Given the description of an element on the screen output the (x, y) to click on. 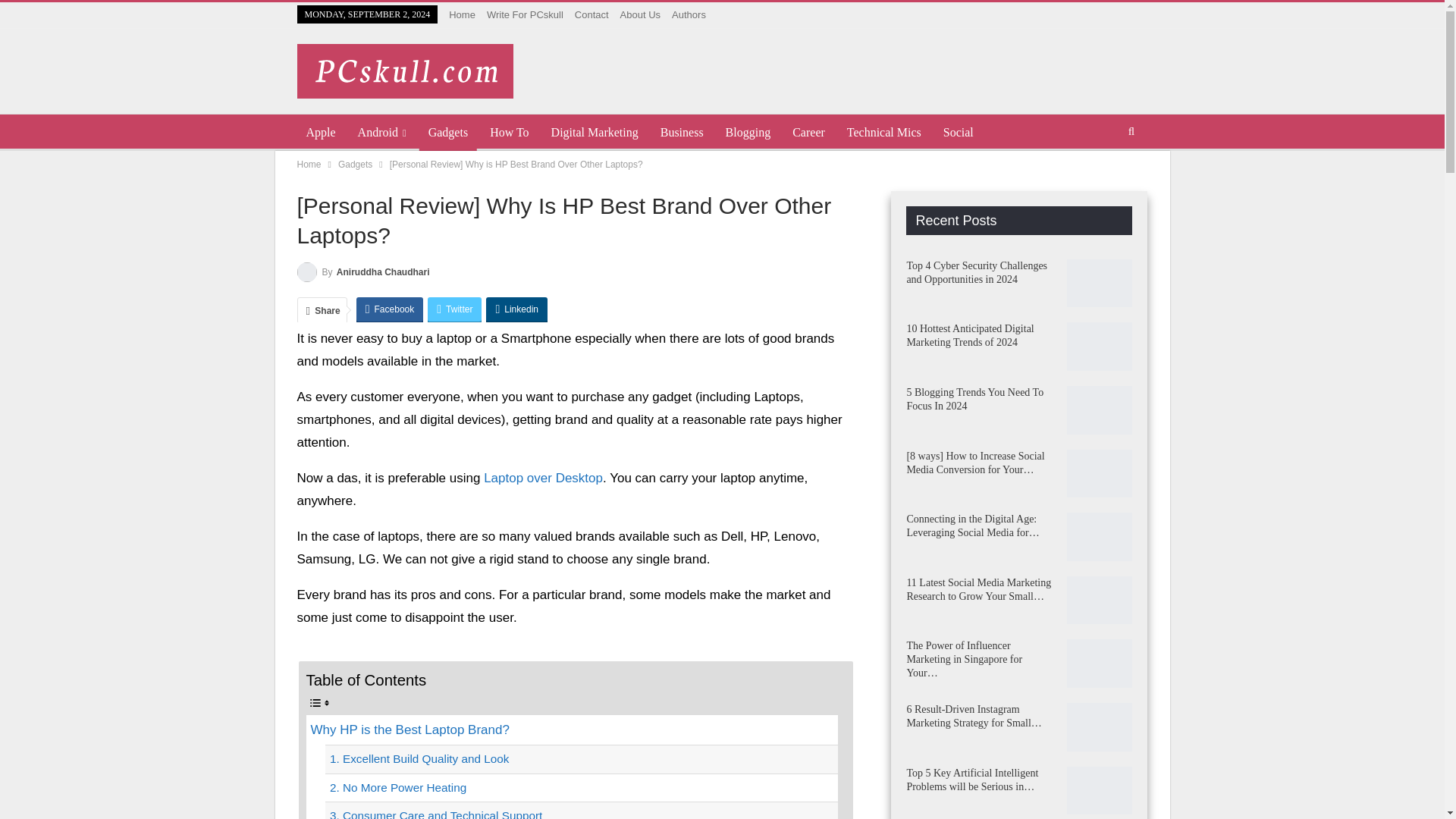
Career (808, 132)
1. Excellent Build Quality and Look (581, 759)
2. No More Power Heating (581, 787)
Social (958, 132)
Apple (321, 132)
Why HP is the Best Laptop Brand? (571, 729)
3. Consumer Care and Technical Support (581, 810)
Android (381, 132)
Browse Author Articles (363, 271)
Facebook (389, 309)
